Given the description of an element on the screen output the (x, y) to click on. 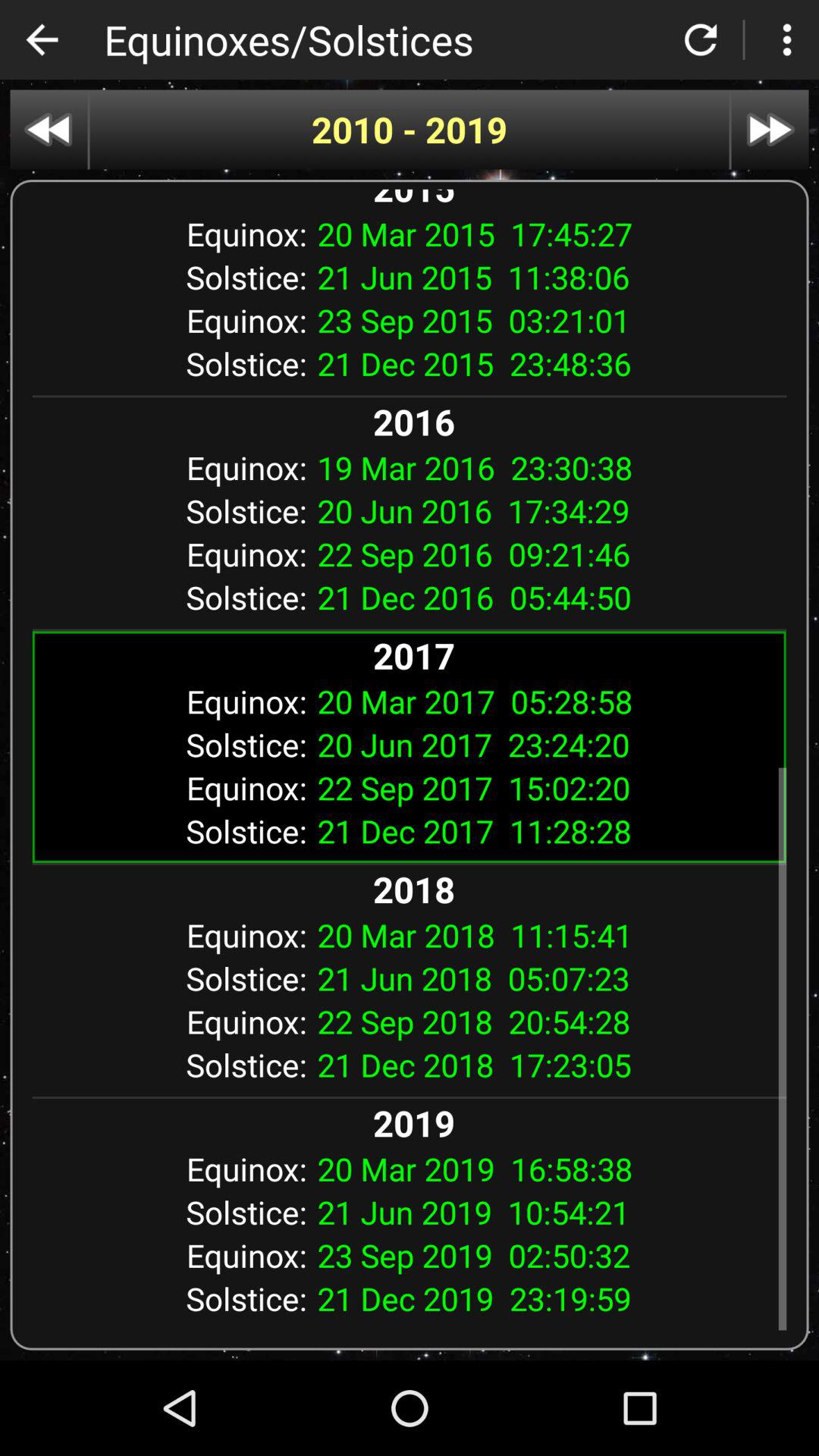
turn on the icon above 2015 app (409, 129)
